Given the description of an element on the screen output the (x, y) to click on. 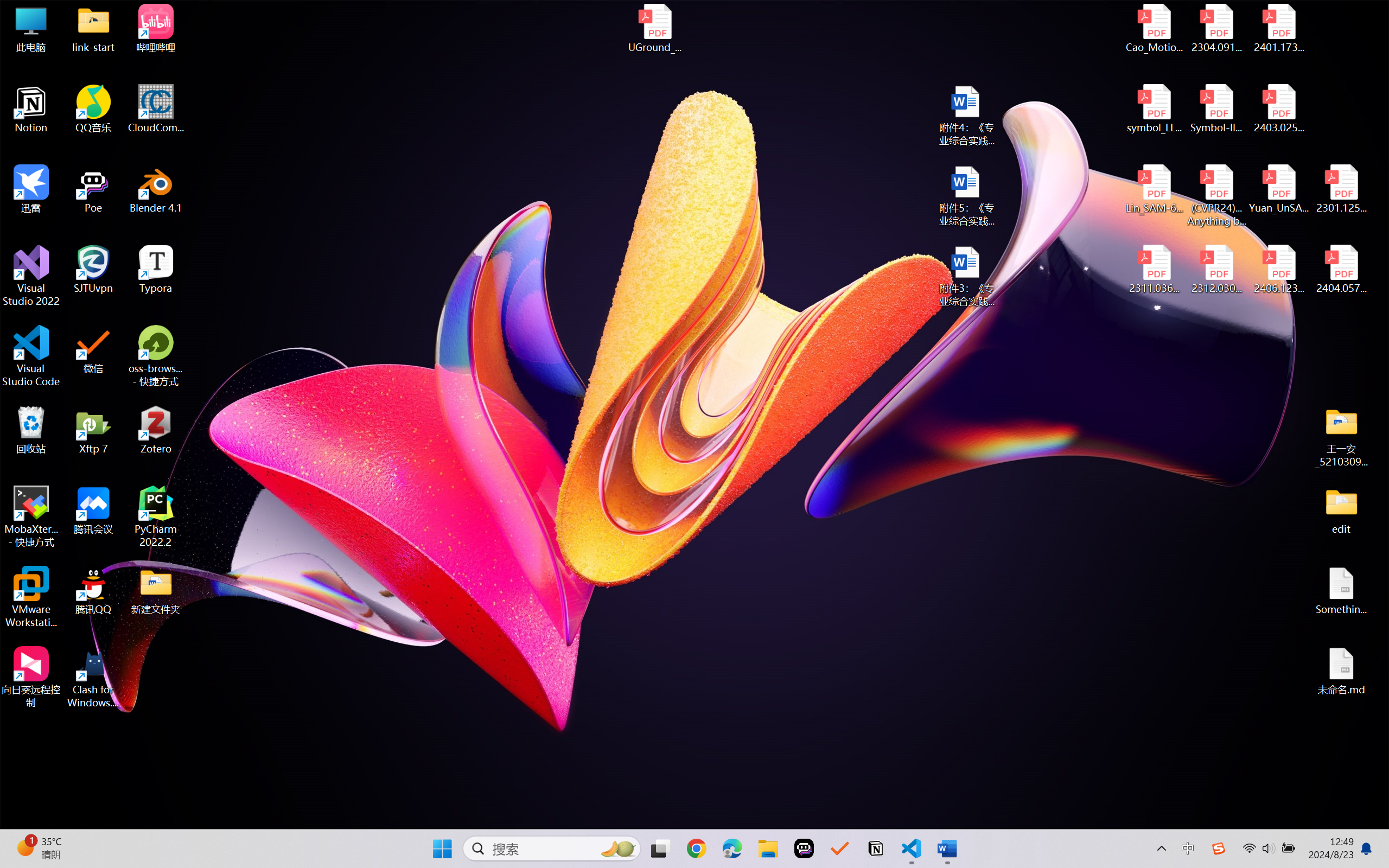
edit (1340, 510)
Visual Studio Code (31, 355)
